Given the description of an element on the screen output the (x, y) to click on. 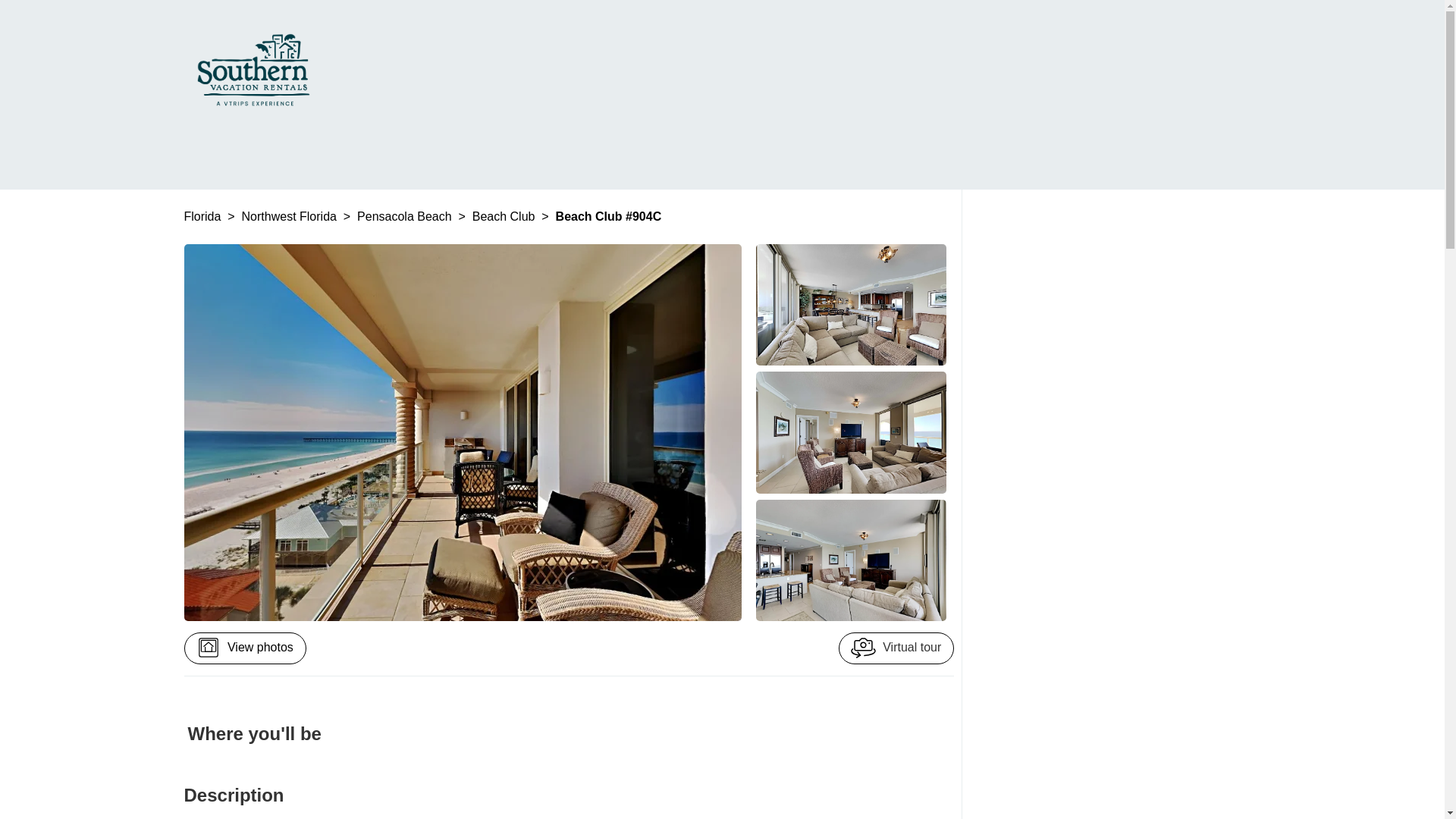
Beach Club (504, 215)
Northwest Florida (290, 215)
Florida (203, 215)
Virtual tour (896, 648)
Living Area (850, 559)
Living Room (850, 304)
Living Room (850, 432)
View photos (244, 648)
Pensacola Beach (405, 215)
